Given the description of an element on the screen output the (x, y) to click on. 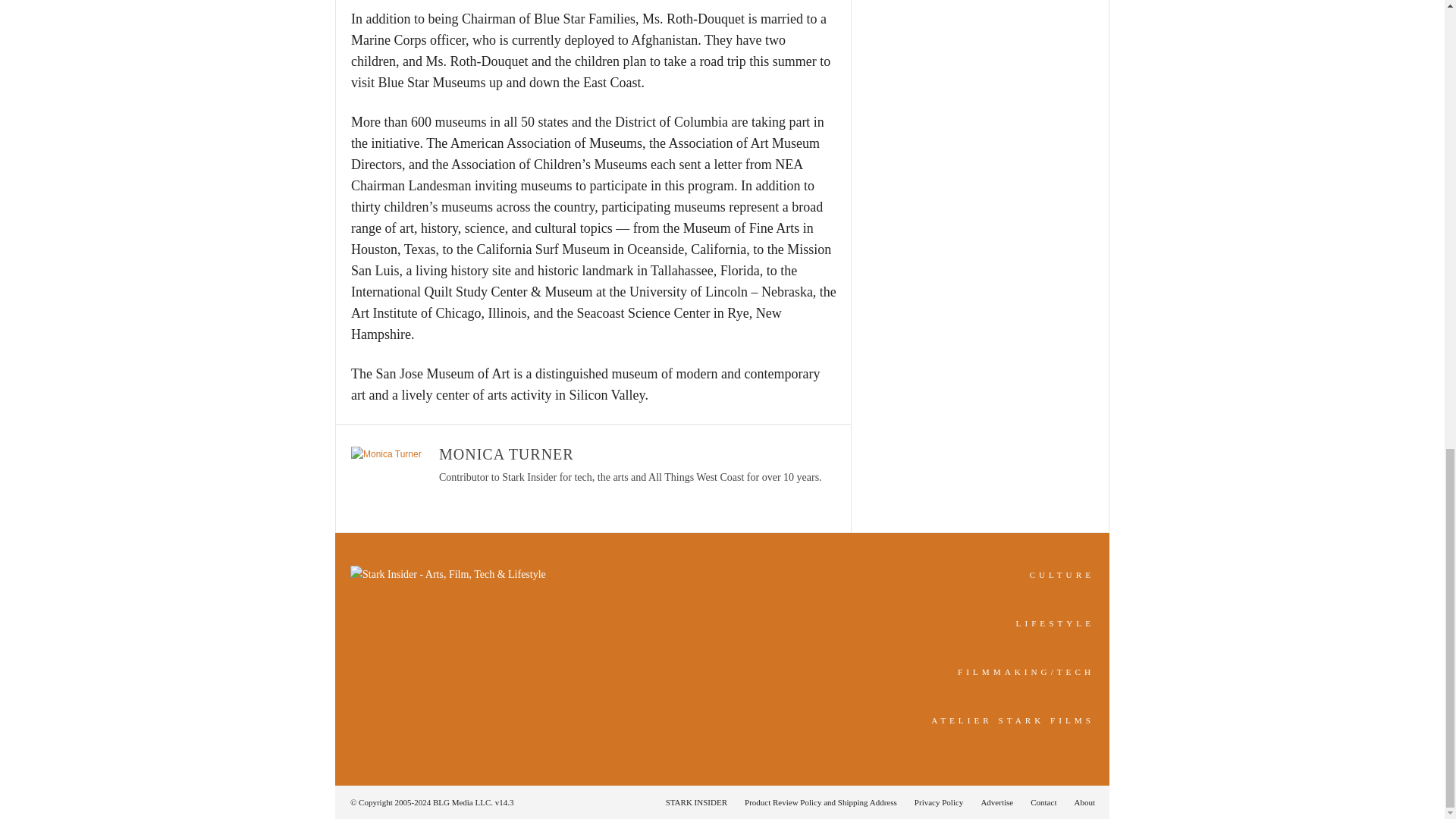
LIFESTYLE (1055, 623)
Contact (1043, 801)
Product Review Policy and Shipping Address (820, 801)
Privacy Policy (939, 801)
CULTURE (1061, 574)
Advertise (996, 801)
ATELIER STARK FILMS (1012, 719)
STARK INSIDER (696, 801)
MONICA TURNER (506, 453)
About (1079, 801)
